Given the description of an element on the screen output the (x, y) to click on. 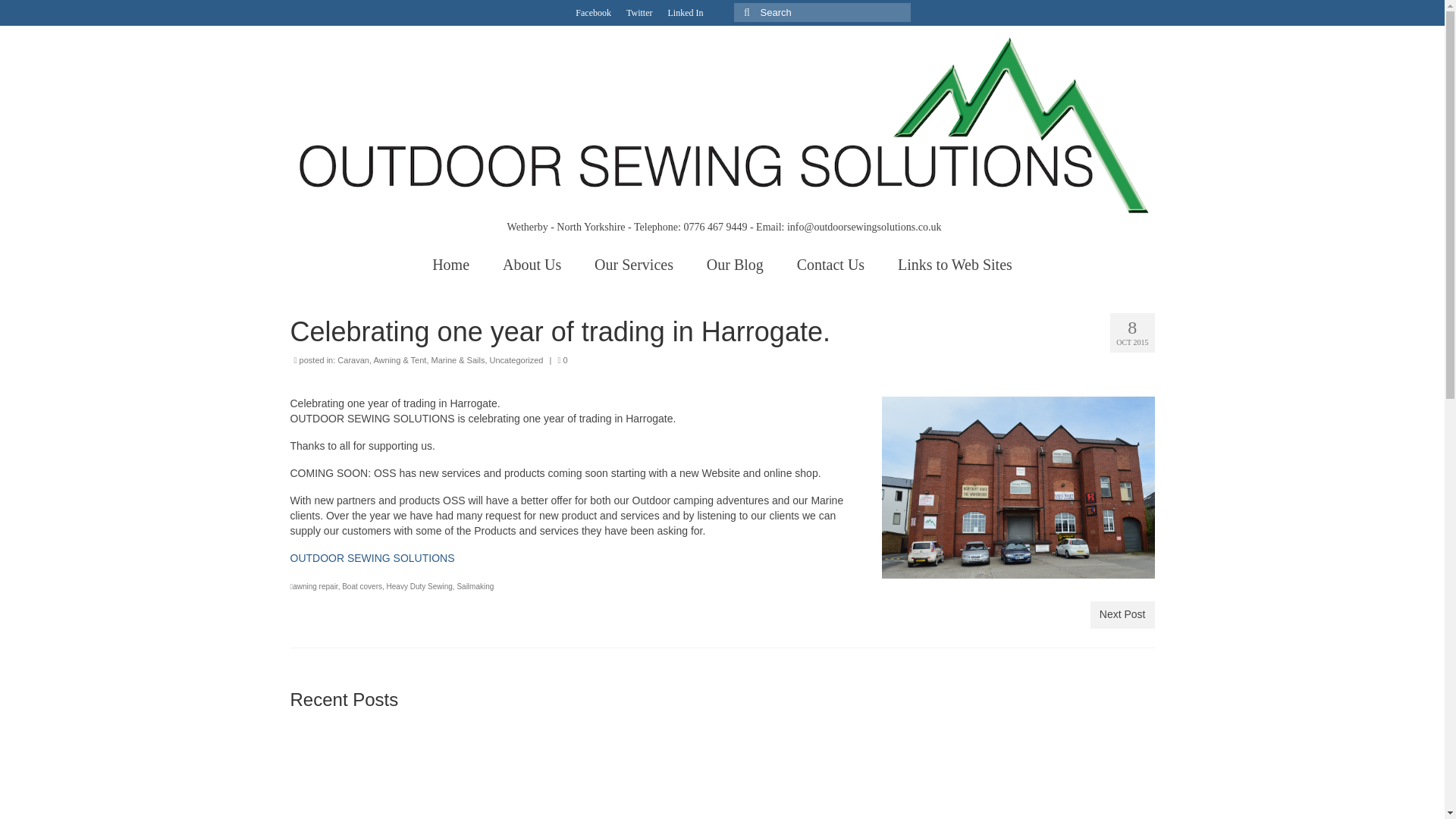
Linked In (684, 12)
Twitter (638, 12)
Facebook (592, 12)
Home (450, 264)
Our Services (633, 264)
Our Blog (734, 264)
Contact Us (830, 264)
About Us (531, 264)
Links to Web Sites (954, 264)
